Given the description of an element on the screen output the (x, y) to click on. 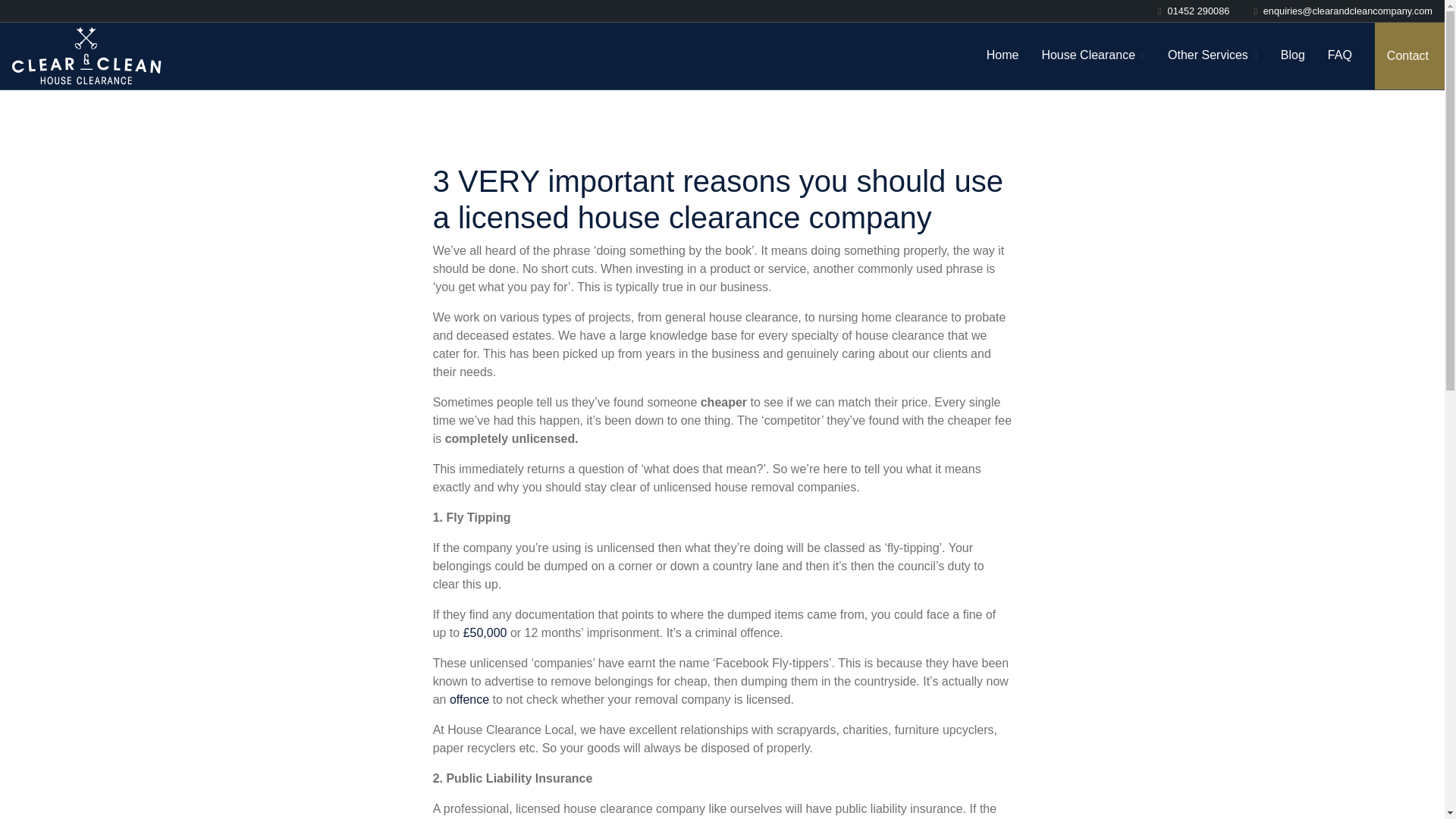
01452 290086 (1198, 10)
Contact (1409, 55)
House Clearance (1092, 54)
Other Services (1212, 54)
offence (469, 698)
